Given the description of an element on the screen output the (x, y) to click on. 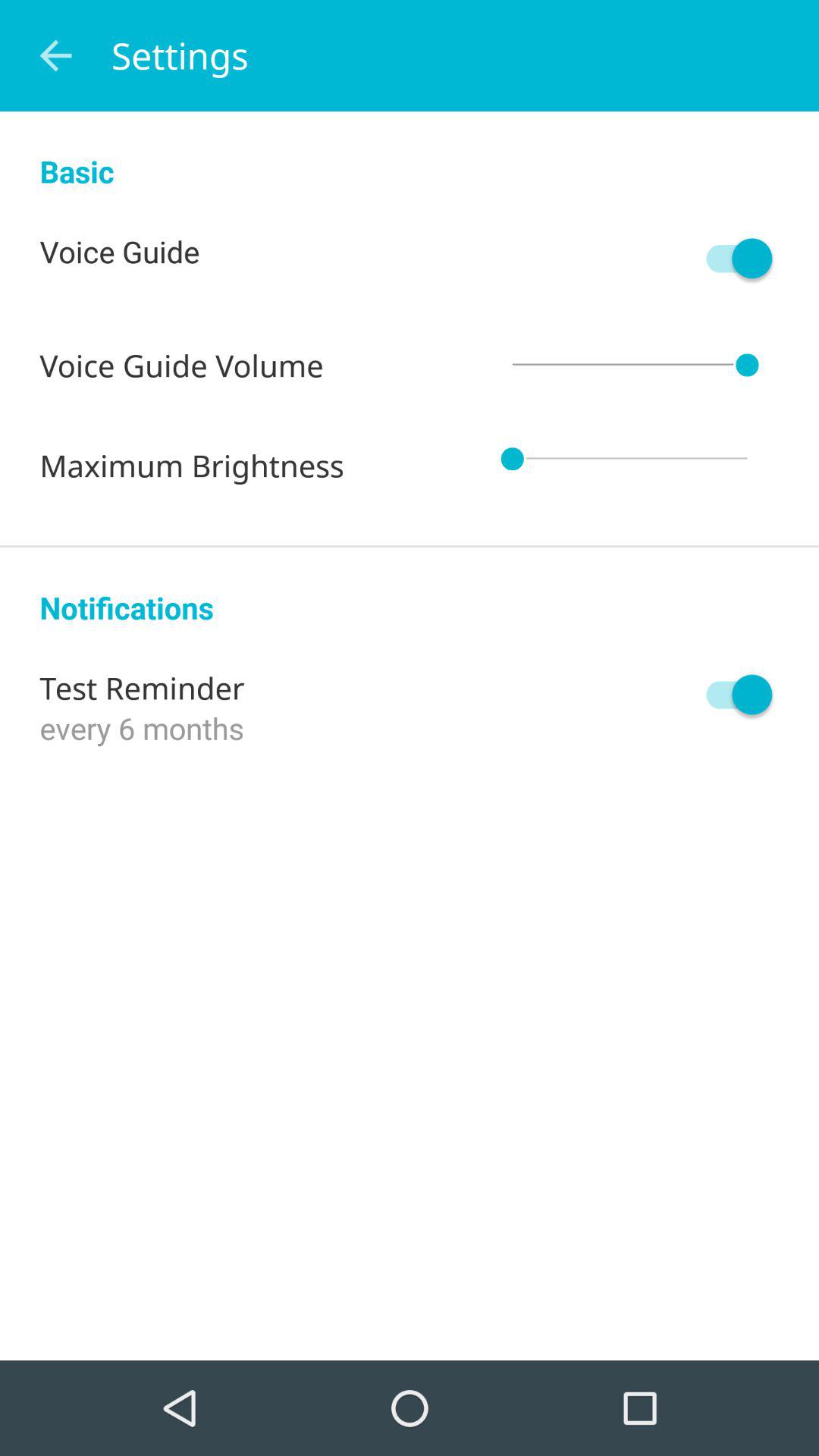
turn off item next to settings item (55, 55)
